Given the description of an element on the screen output the (x, y) to click on. 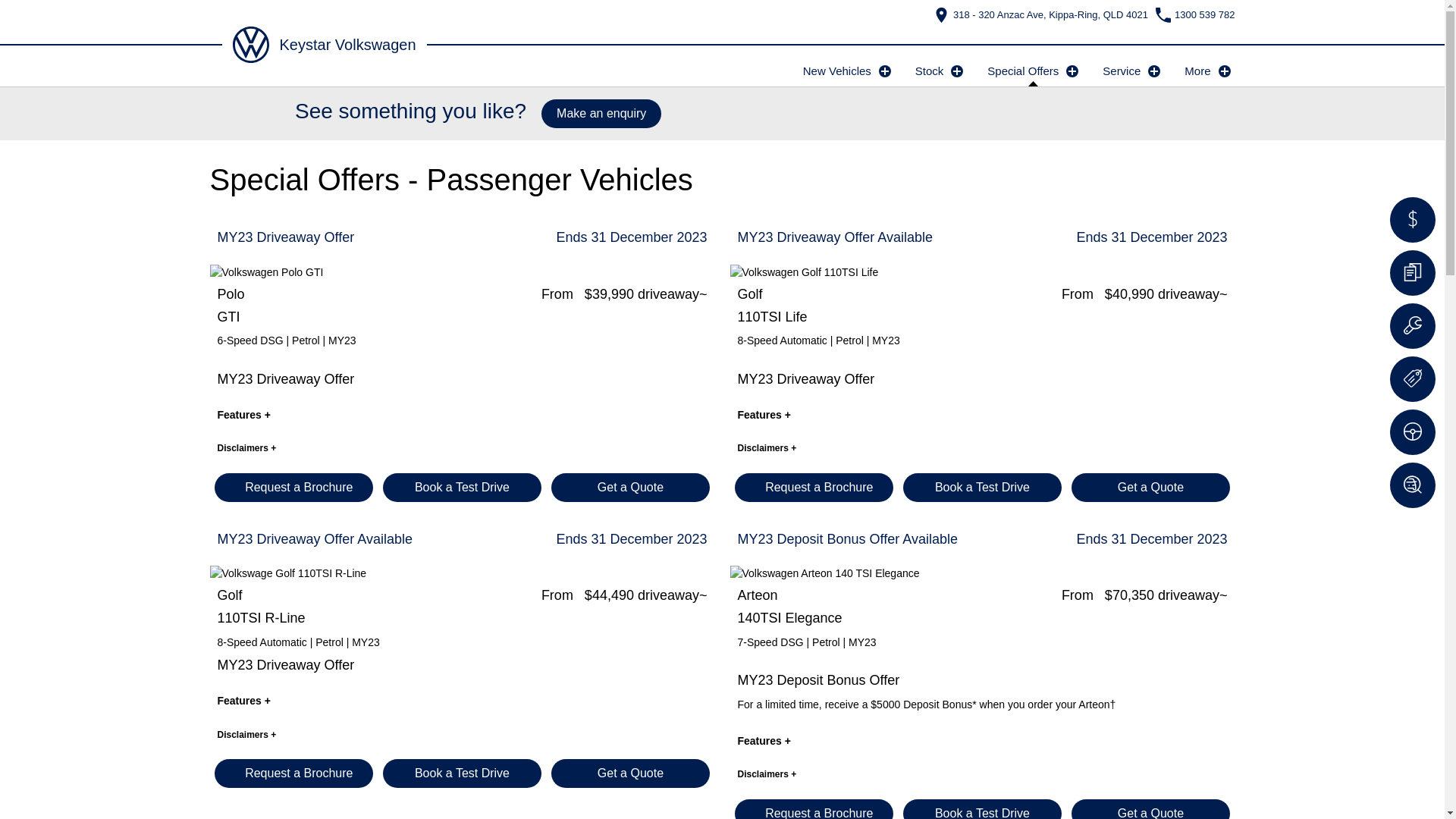
More Element type: text (1206, 74)
Make an enquiry Element type: text (601, 113)
318 - 320 Anzac Ave, Kippa-Ring, QLD 4021 Element type: text (1041, 14)
Get a Quote Element type: text (630, 773)
Get a Quote Element type: text (1150, 487)
Get a Quote Element type: text (630, 487)
Special Offers Element type: text (1032, 74)
Service Element type: text (1131, 74)
Book a Test Drive Element type: text (982, 487)
Request a Brochure Element type: text (293, 487)
Stock Element type: text (939, 74)
Request a Brochure Element type: text (813, 487)
New Vehicles Element type: text (846, 74)
Book a Test Drive Element type: text (461, 773)
1300 539 782 Element type: text (1195, 14)
Keystar Volkswagen Element type: text (323, 44)
Book a Test Drive Element type: text (461, 487)
Request a Brochure Element type: text (293, 773)
